Given the description of an element on the screen output the (x, y) to click on. 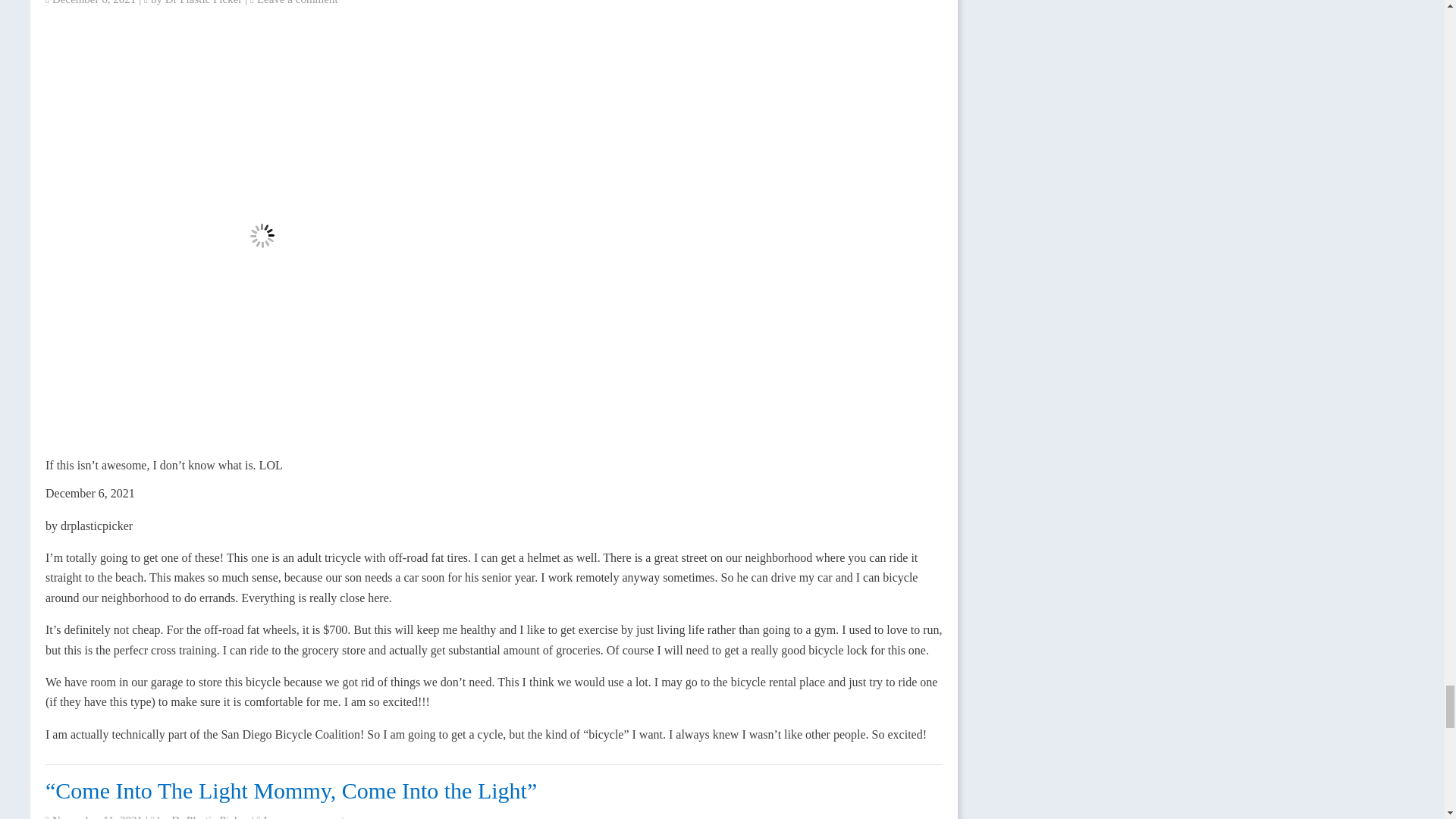
Dr Plastic Picker (204, 2)
